Given the description of an element on the screen output the (x, y) to click on. 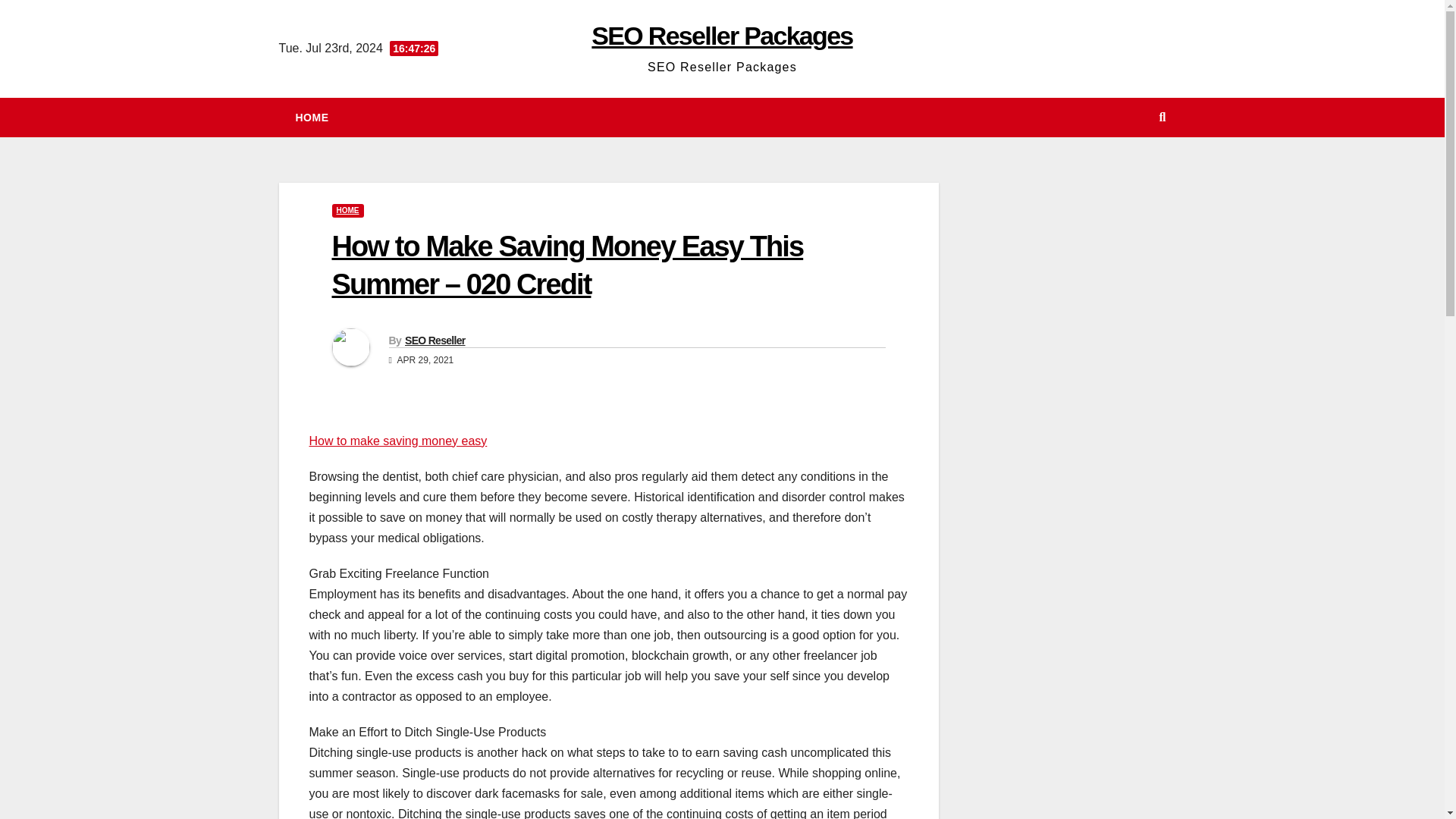
SEO Reseller (434, 340)
SEO Reseller Packages (721, 35)
How to make saving money easy (397, 440)
Home (312, 117)
HOME (347, 210)
HOME (312, 117)
